Given the description of an element on the screen output the (x, y) to click on. 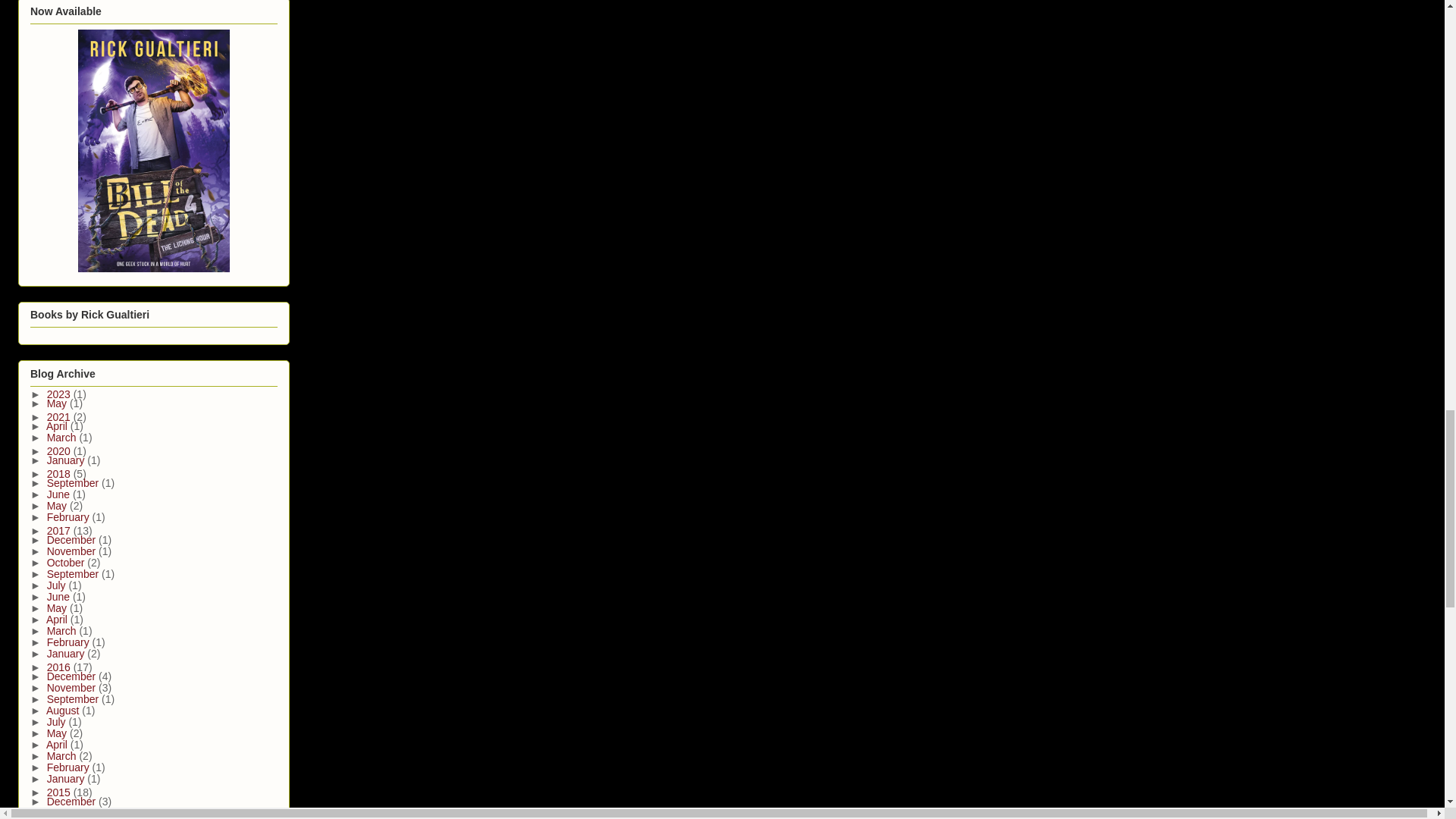
2023 (60, 394)
2021 (60, 417)
March (63, 437)
April (57, 426)
May (57, 403)
